Given the description of an element on the screen output the (x, y) to click on. 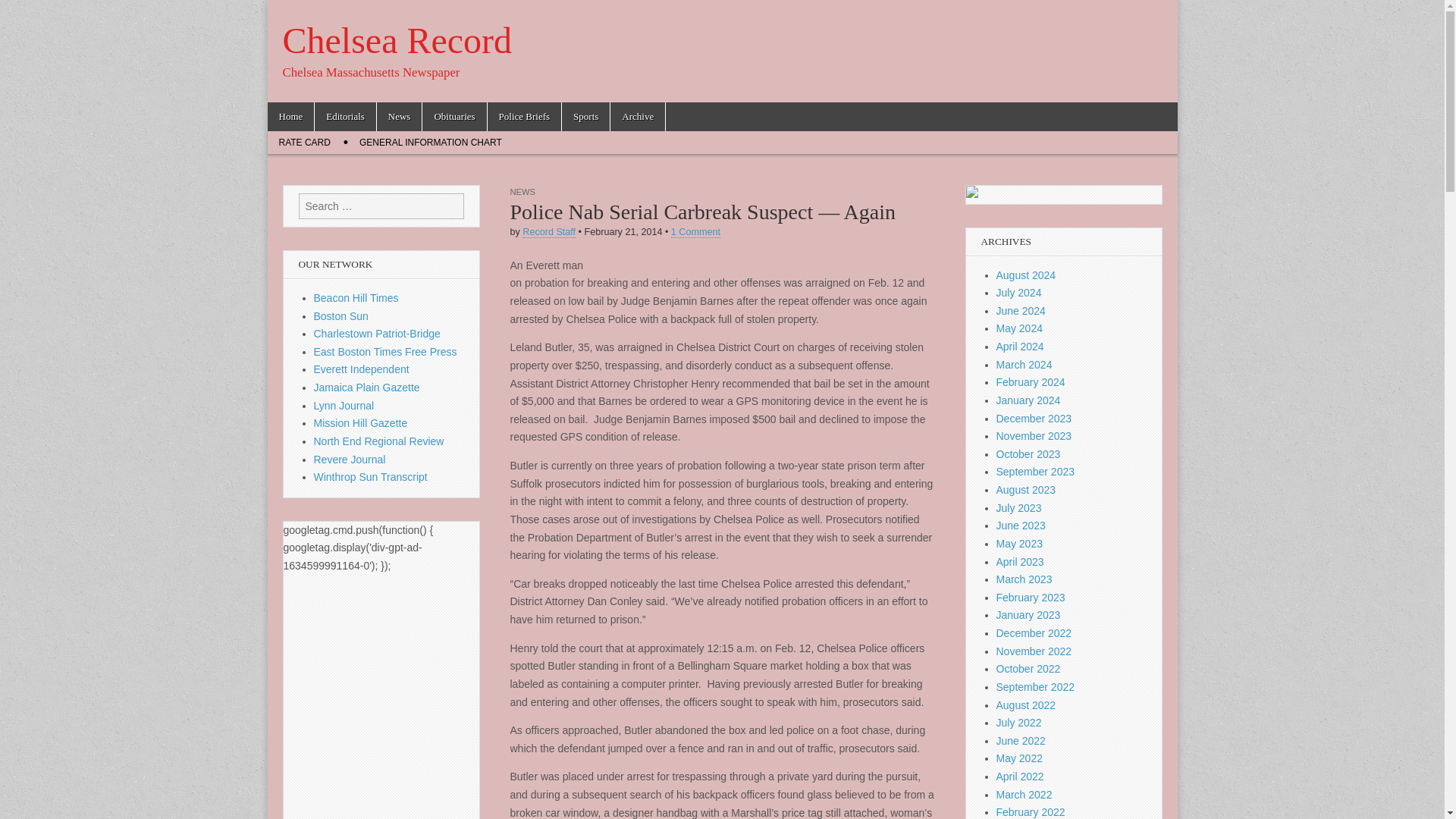
Boston Sun (341, 316)
North End Regional Review (379, 440)
Lynn Journal (344, 405)
GENERAL INFORMATION CHART (430, 142)
March 2024 (1023, 364)
Editorials (344, 116)
News (399, 116)
1 Comment (695, 232)
Search (23, 12)
April 2024 (1019, 346)
